Given the description of an element on the screen output the (x, y) to click on. 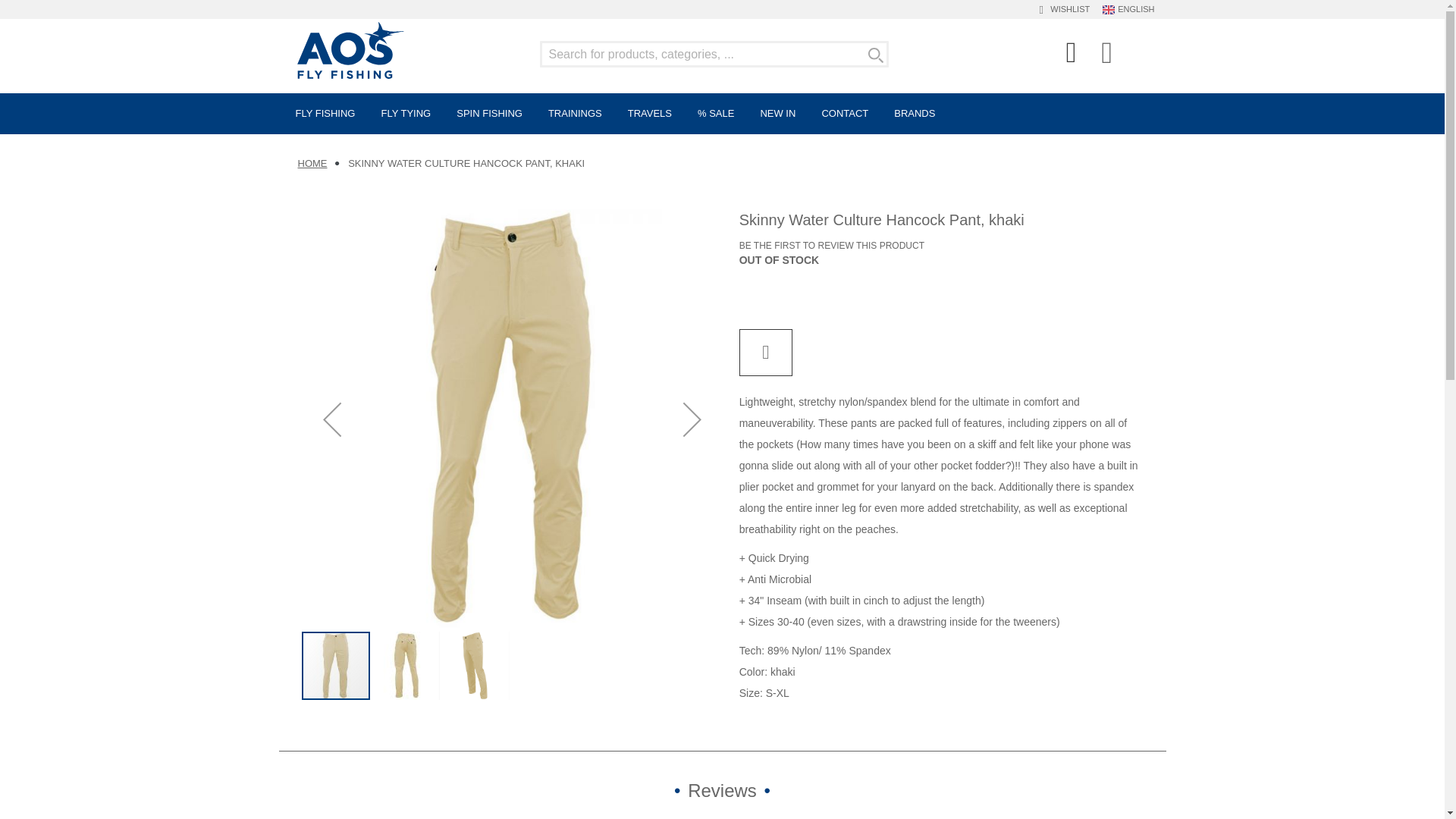
Go to Home Page (311, 163)
Availability (779, 260)
WISHLIST (1067, 8)
FLY FISHING (325, 113)
Wishlist (1067, 8)
Header Links (1071, 55)
